Given the description of an element on the screen output the (x, y) to click on. 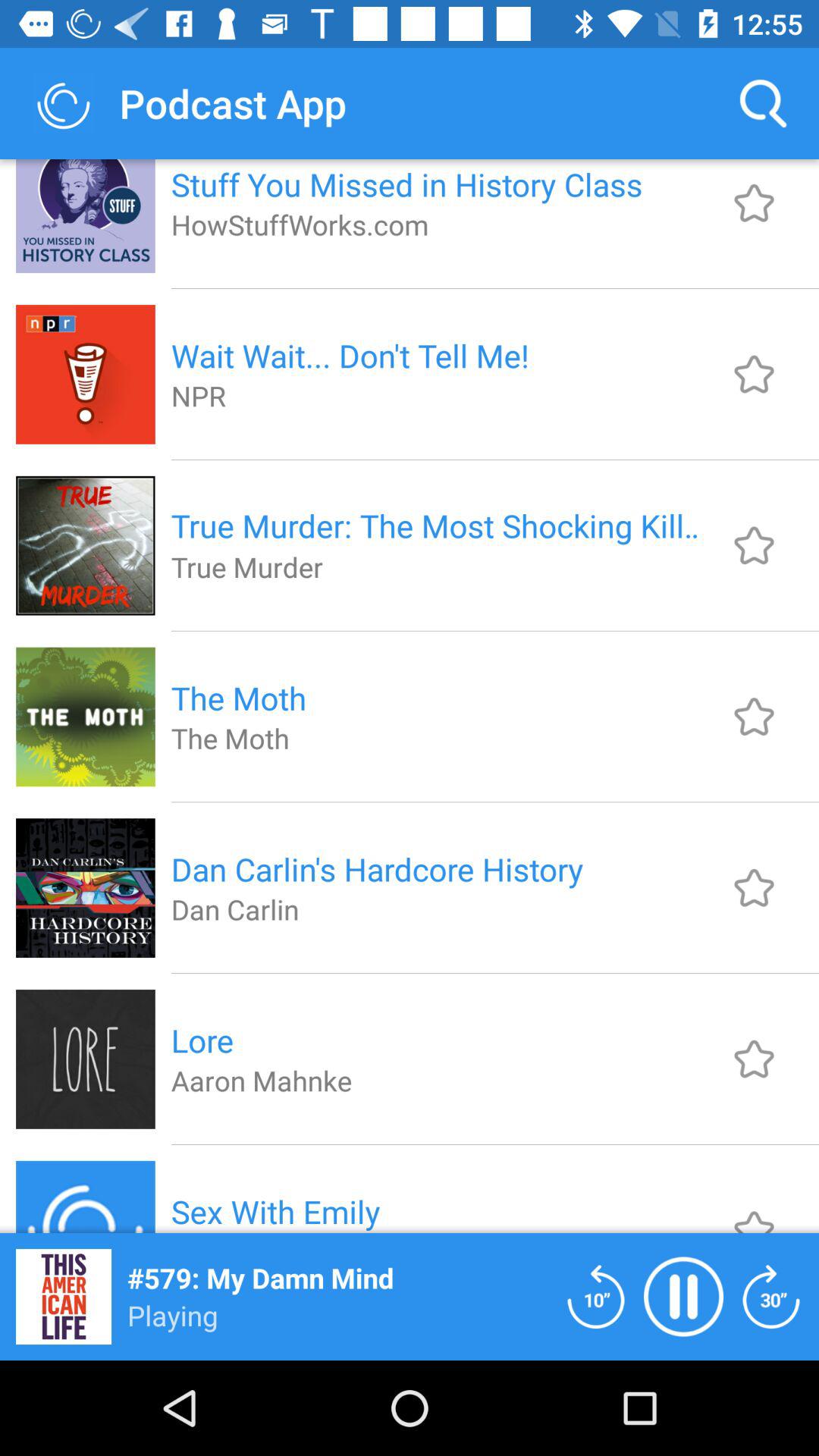
add to favorites (754, 716)
